Given the description of an element on the screen output the (x, y) to click on. 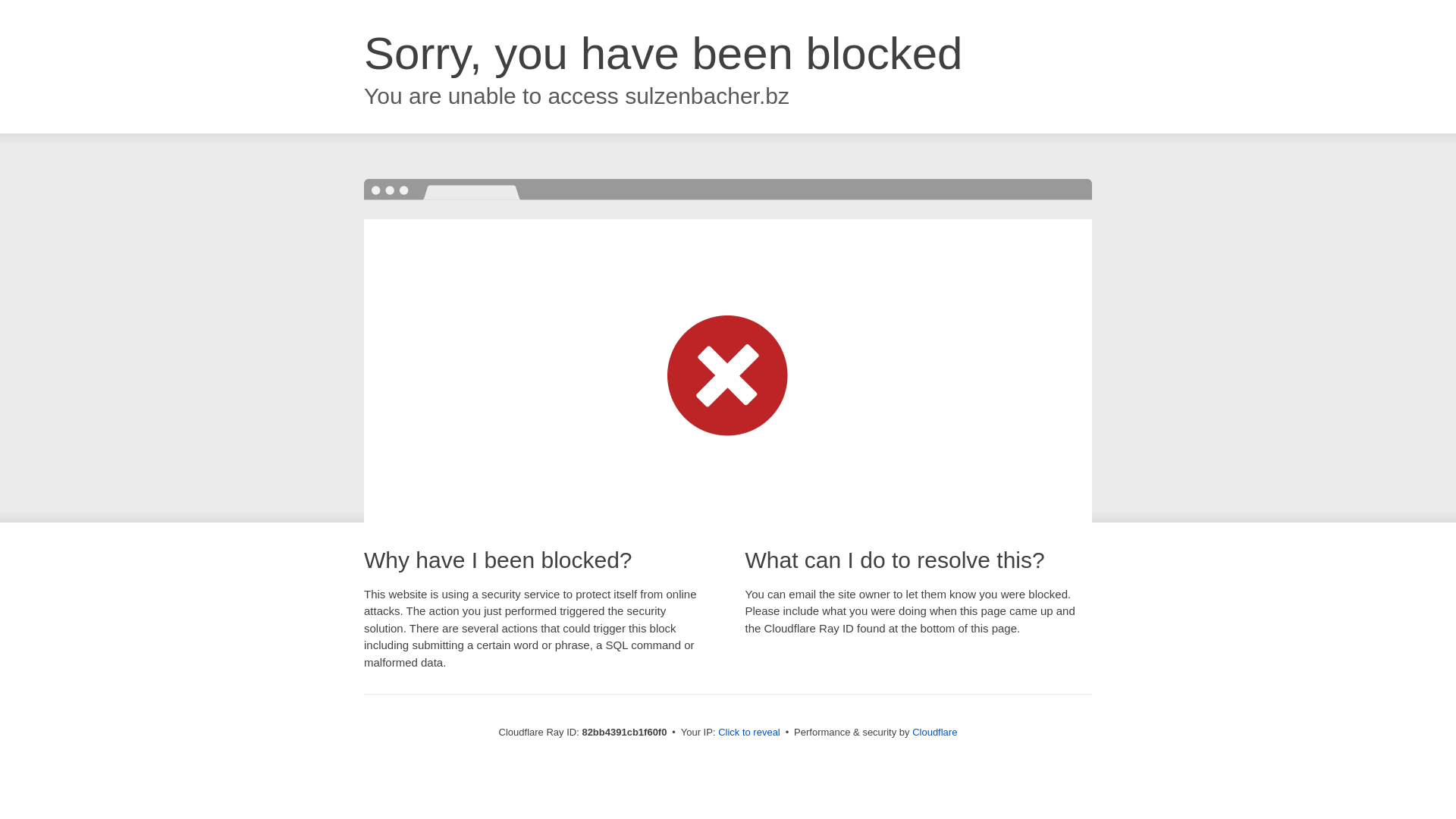
Click to reveal Element type: text (749, 732)
Cloudflare Element type: text (934, 731)
